Given the description of an element on the screen output the (x, y) to click on. 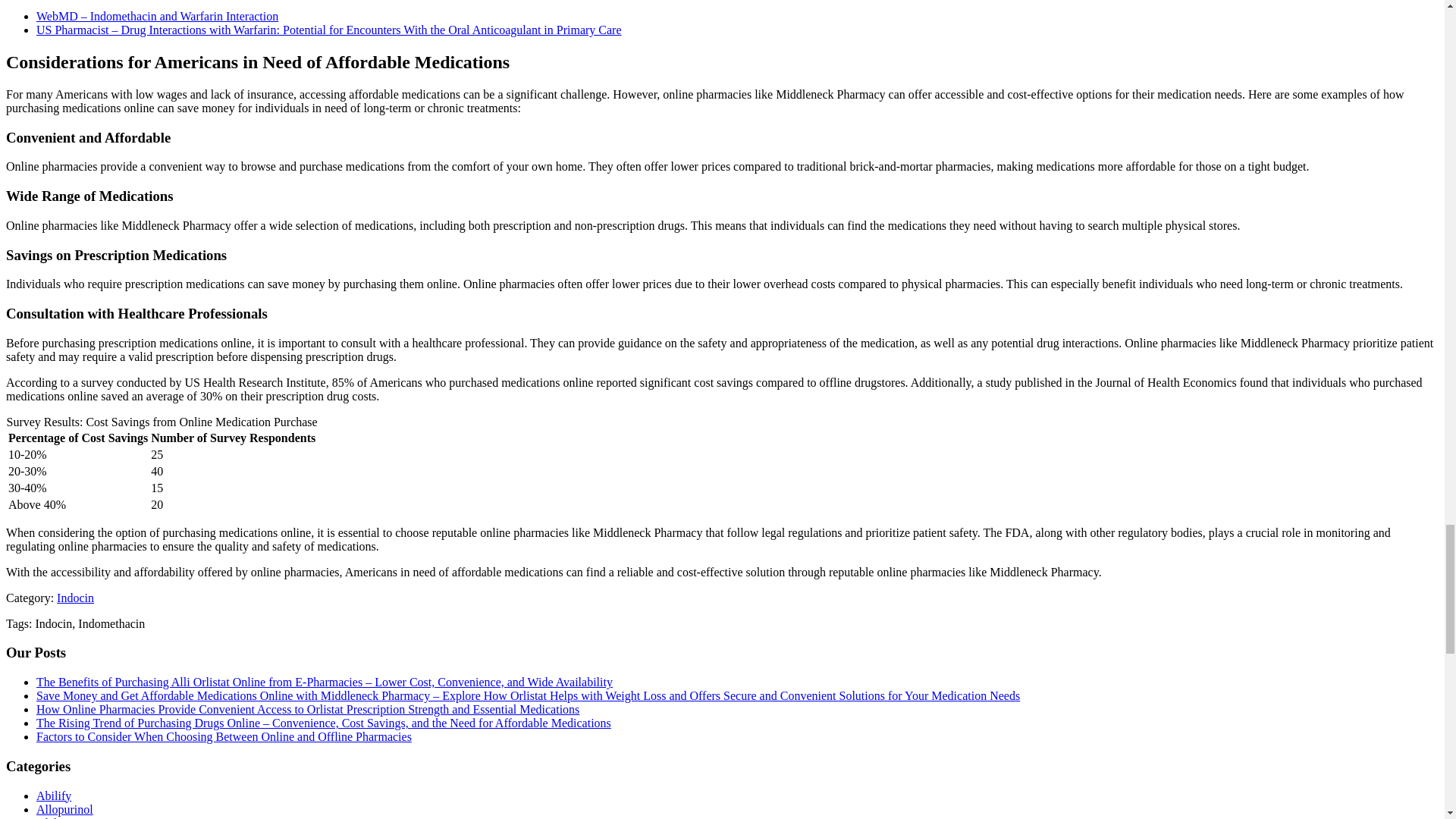
Allopurinol (64, 809)
Indocin (75, 597)
Abilify (53, 795)
